Given the description of an element on the screen output the (x, y) to click on. 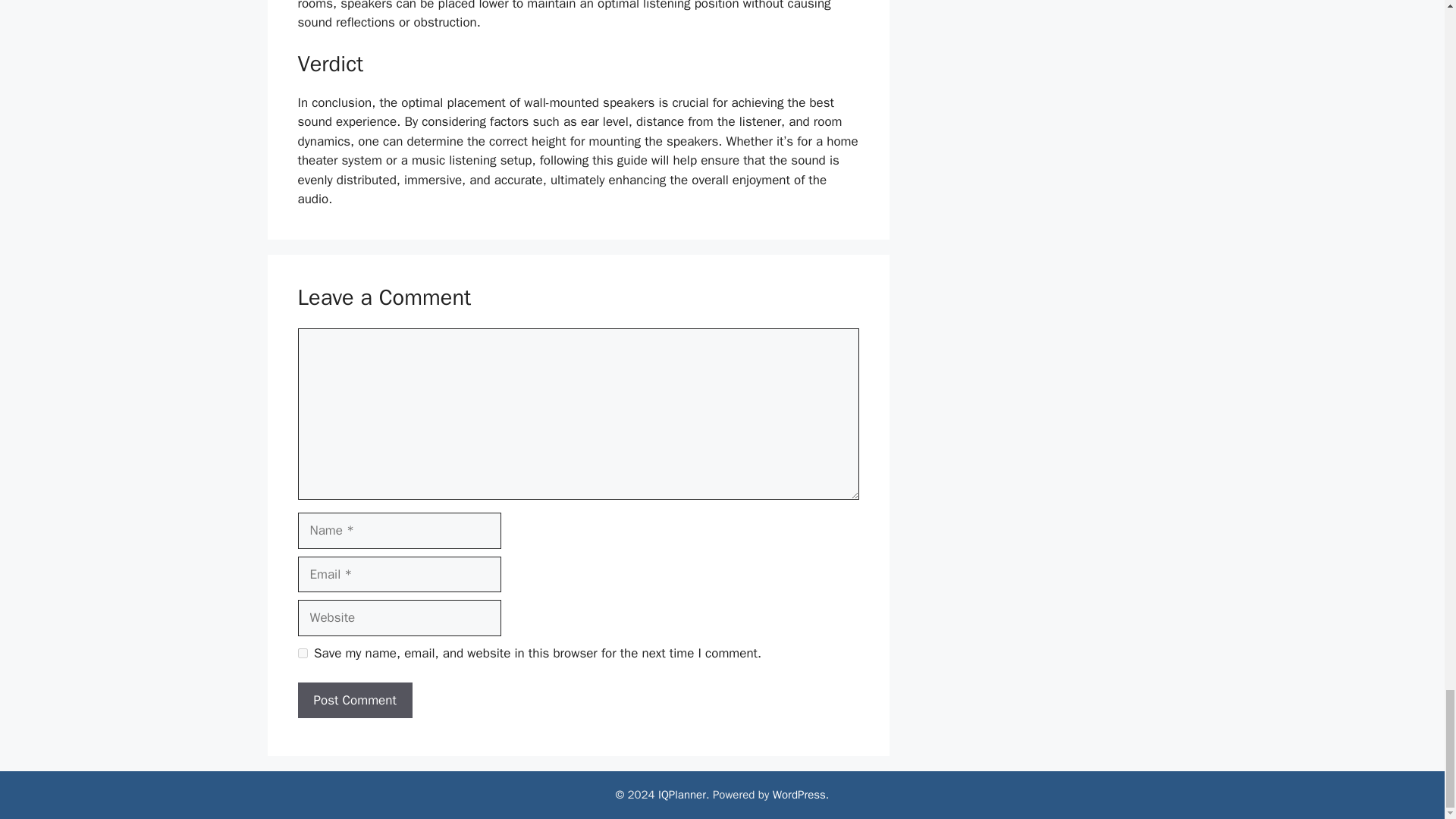
yes (302, 653)
WordPress (799, 794)
Post Comment (354, 700)
Post Comment (354, 700)
IQPlanner (682, 794)
